Given the description of an element on the screen output the (x, y) to click on. 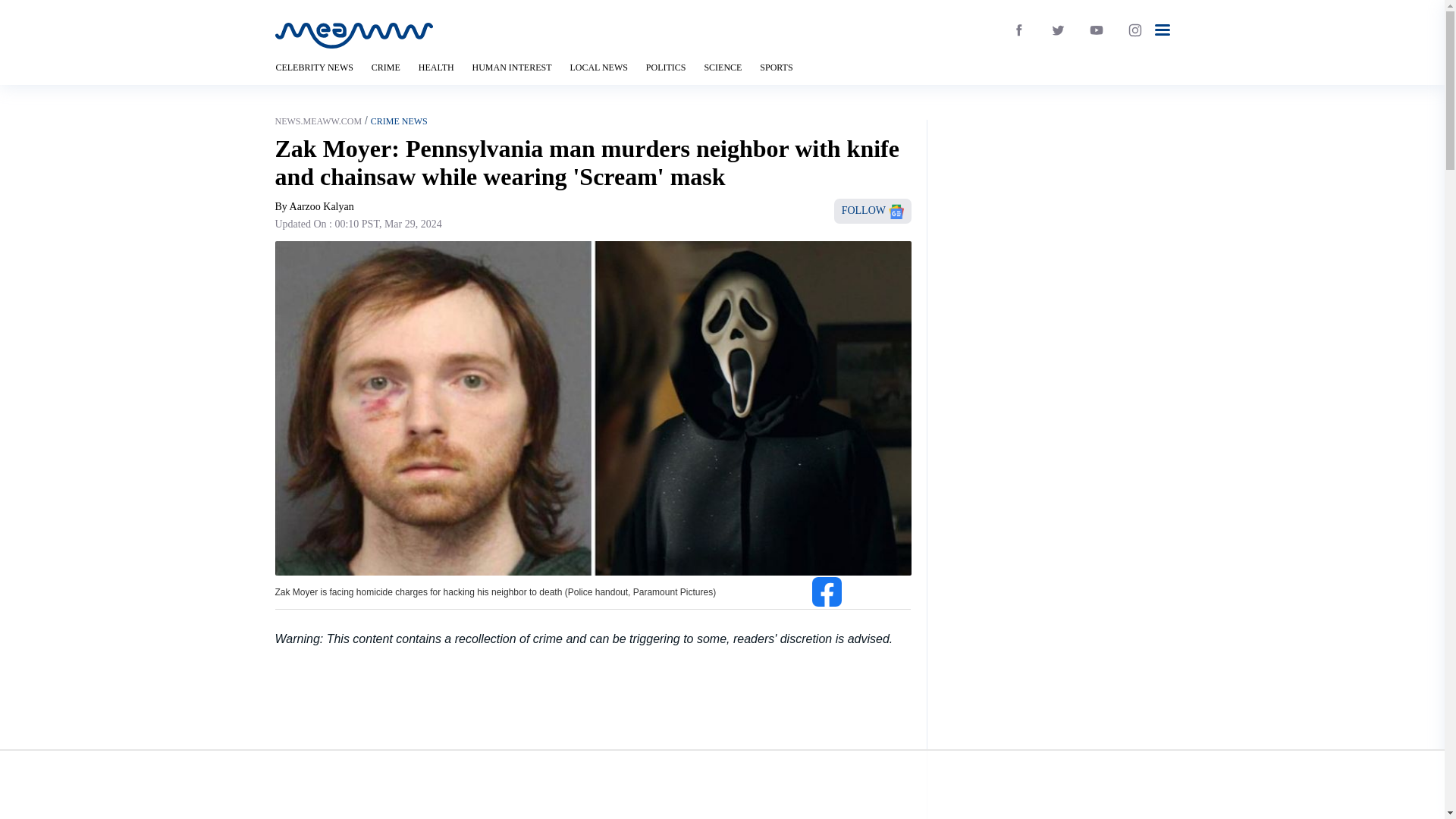
HUMAN INTEREST (511, 67)
LOCAL NEWS (598, 67)
SPORTS (776, 67)
CRIME (385, 67)
SCIENCE (722, 67)
CELEBRITY NEWS (314, 67)
POLITICS (665, 67)
HEALTH (436, 67)
